Given the description of an element on the screen output the (x, y) to click on. 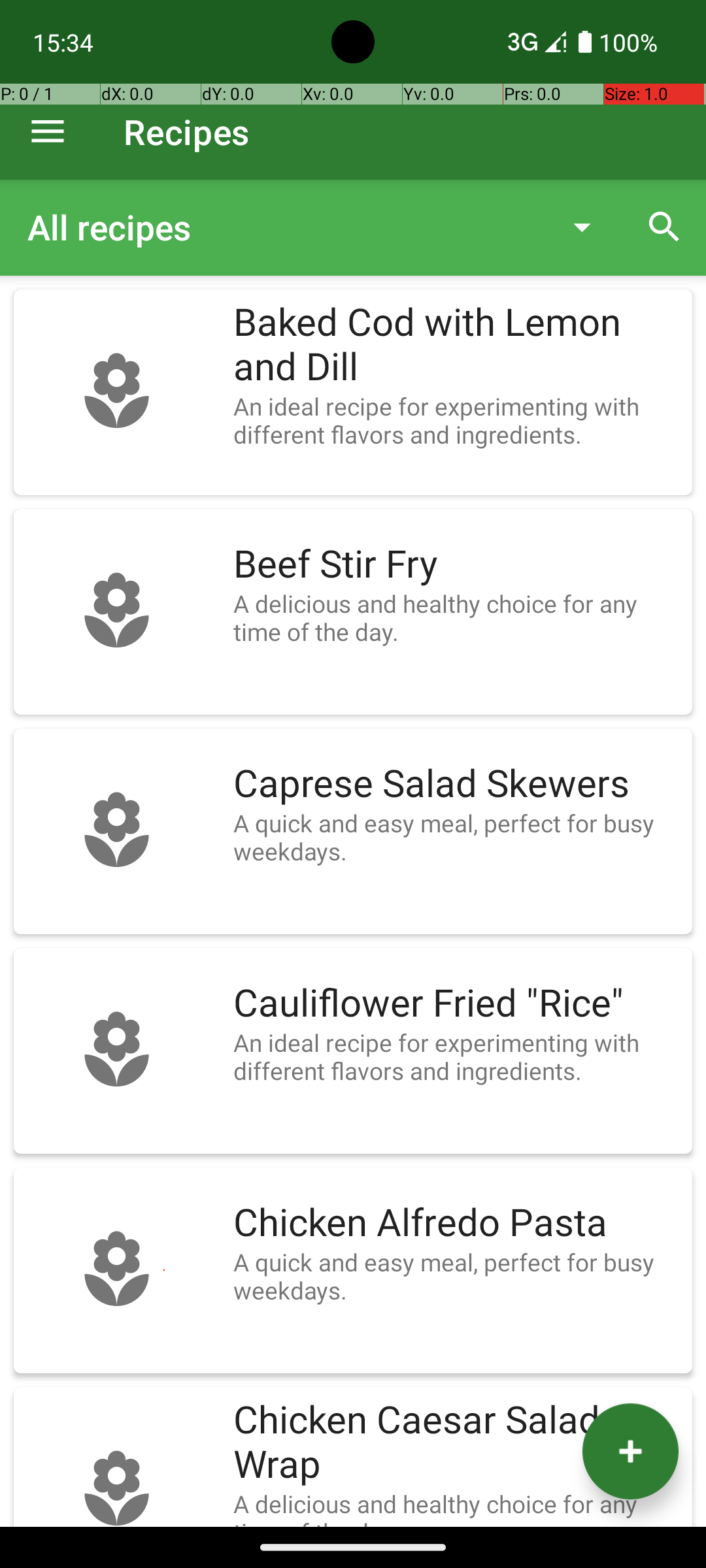
Cauliflower Fried "Rice" Element type: android.widget.TextView (455, 1003)
Chicken Alfredo Pasta Element type: android.widget.TextView (455, 1222)
Chicken Caesar Salad Wrap Element type: android.widget.TextView (455, 1442)
